Given the description of an element on the screen output the (x, y) to click on. 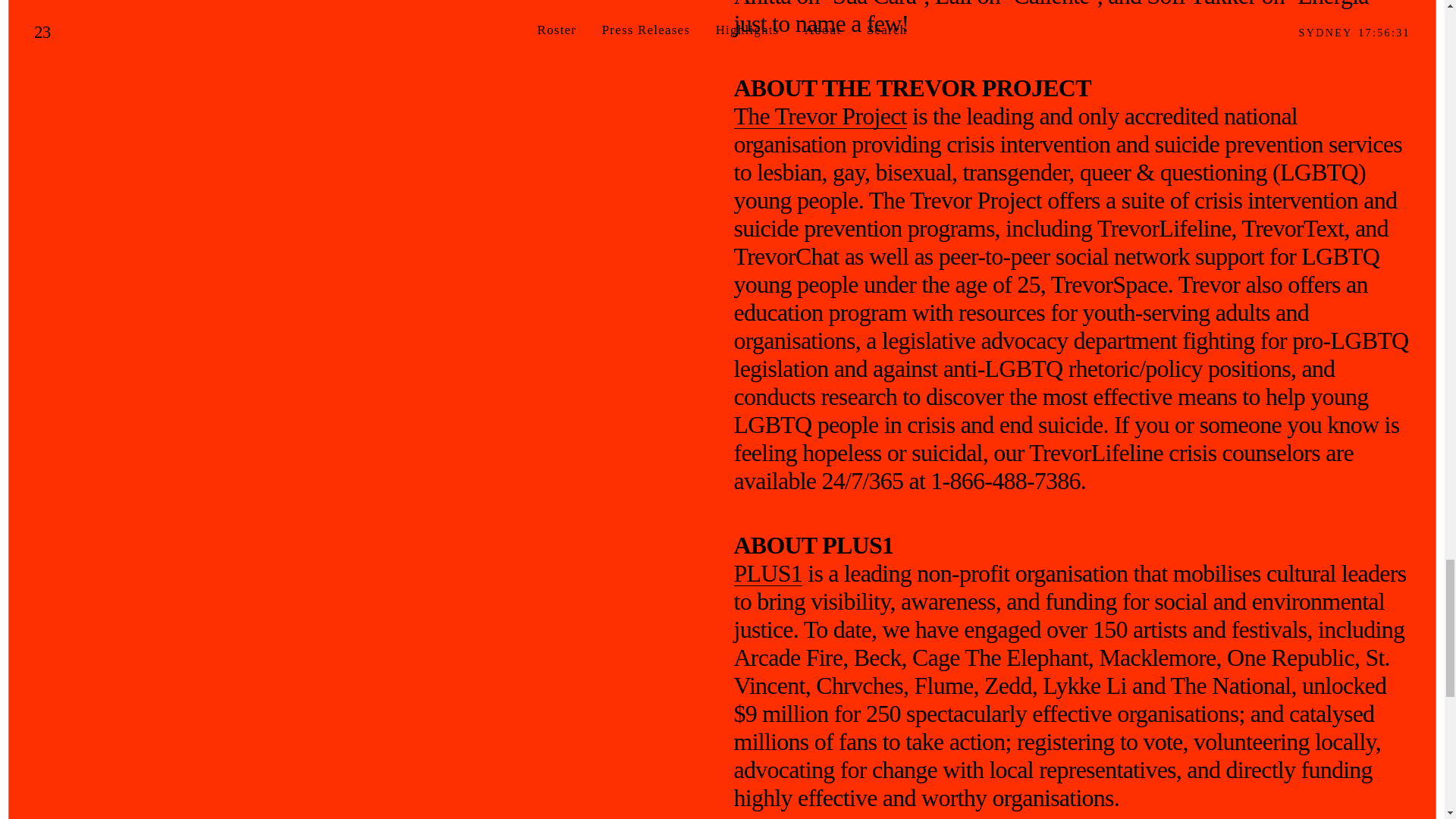
The Trevor Project (820, 116)
PLUS1 (768, 573)
